Given the description of an element on the screen output the (x, y) to click on. 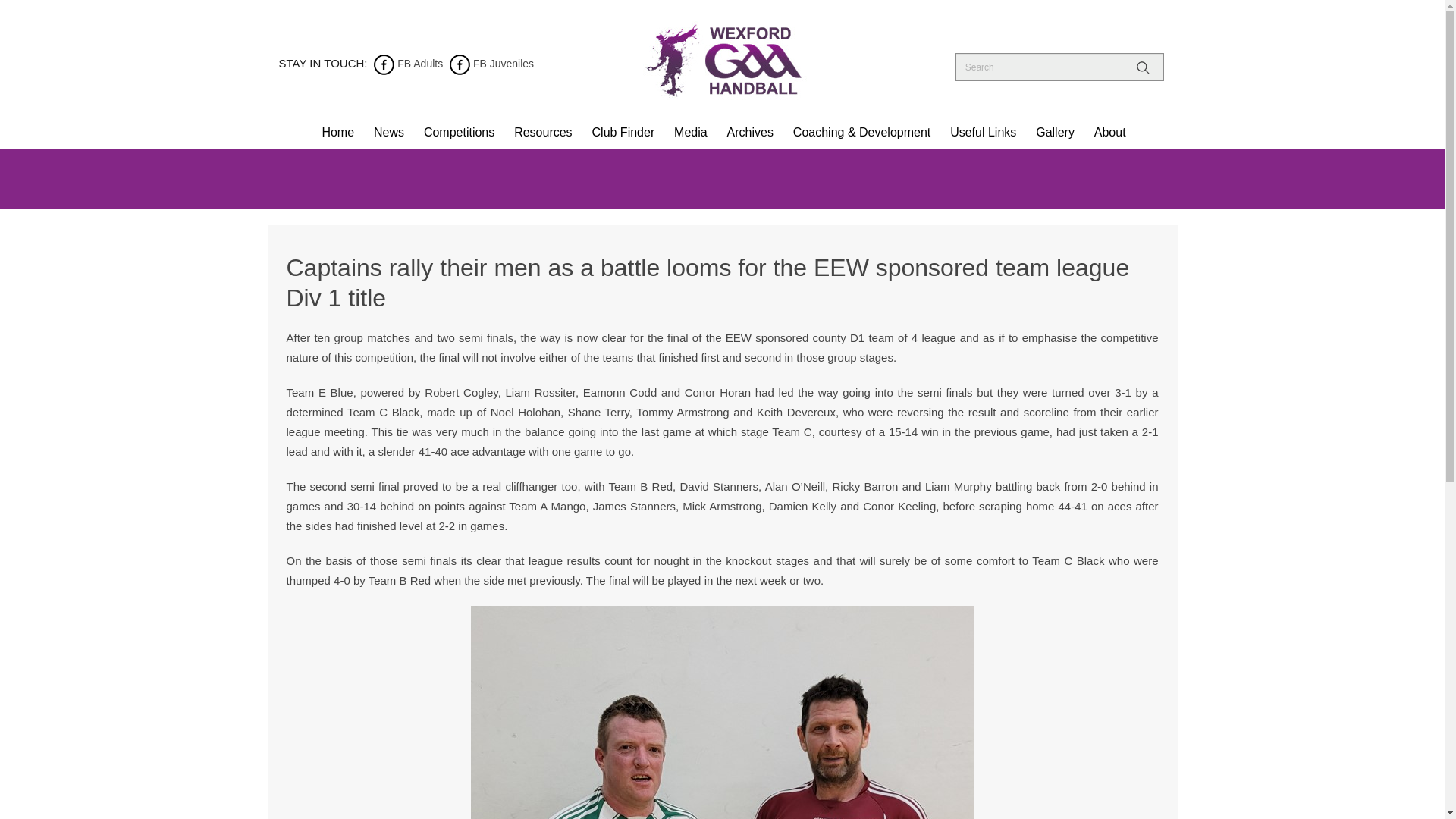
facebook-adults (384, 63)
News (388, 132)
Home (337, 132)
Search (1144, 67)
Search (1144, 67)
facebook-juveniles (459, 63)
Competitions (458, 132)
